Given the description of an element on the screen output the (x, y) to click on. 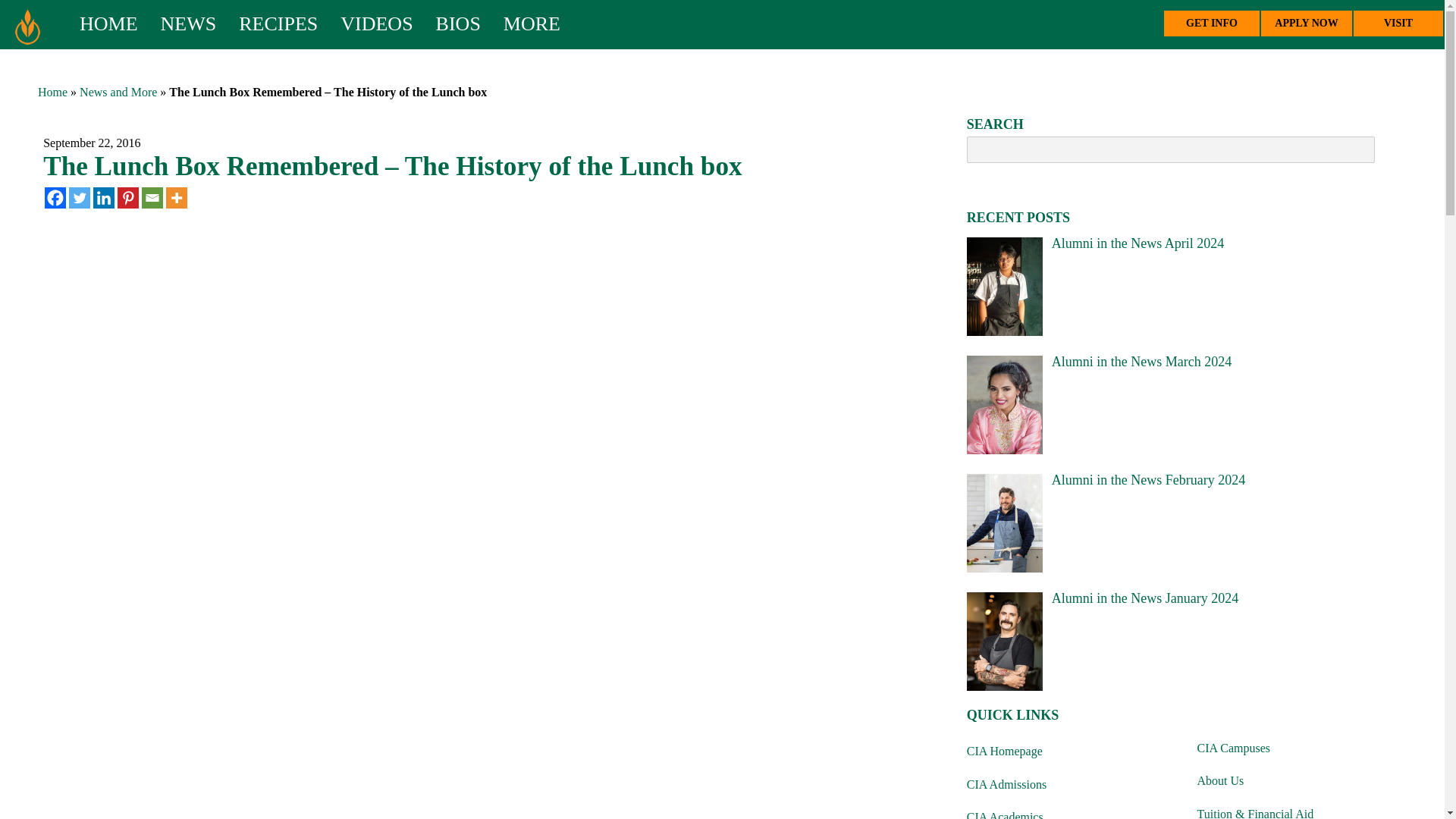
More (176, 197)
Pinterest (127, 197)
Email (152, 197)
MORE (520, 26)
GET INFO (1211, 23)
APPLY NOW (1306, 23)
Facebook (55, 197)
Linkedin (104, 197)
VIDEOS (364, 26)
VISIT (1398, 23)
Home (51, 91)
Twitter (79, 197)
News and More (118, 91)
HOME (109, 26)
NEWS (177, 26)
